Given the description of an element on the screen output the (x, y) to click on. 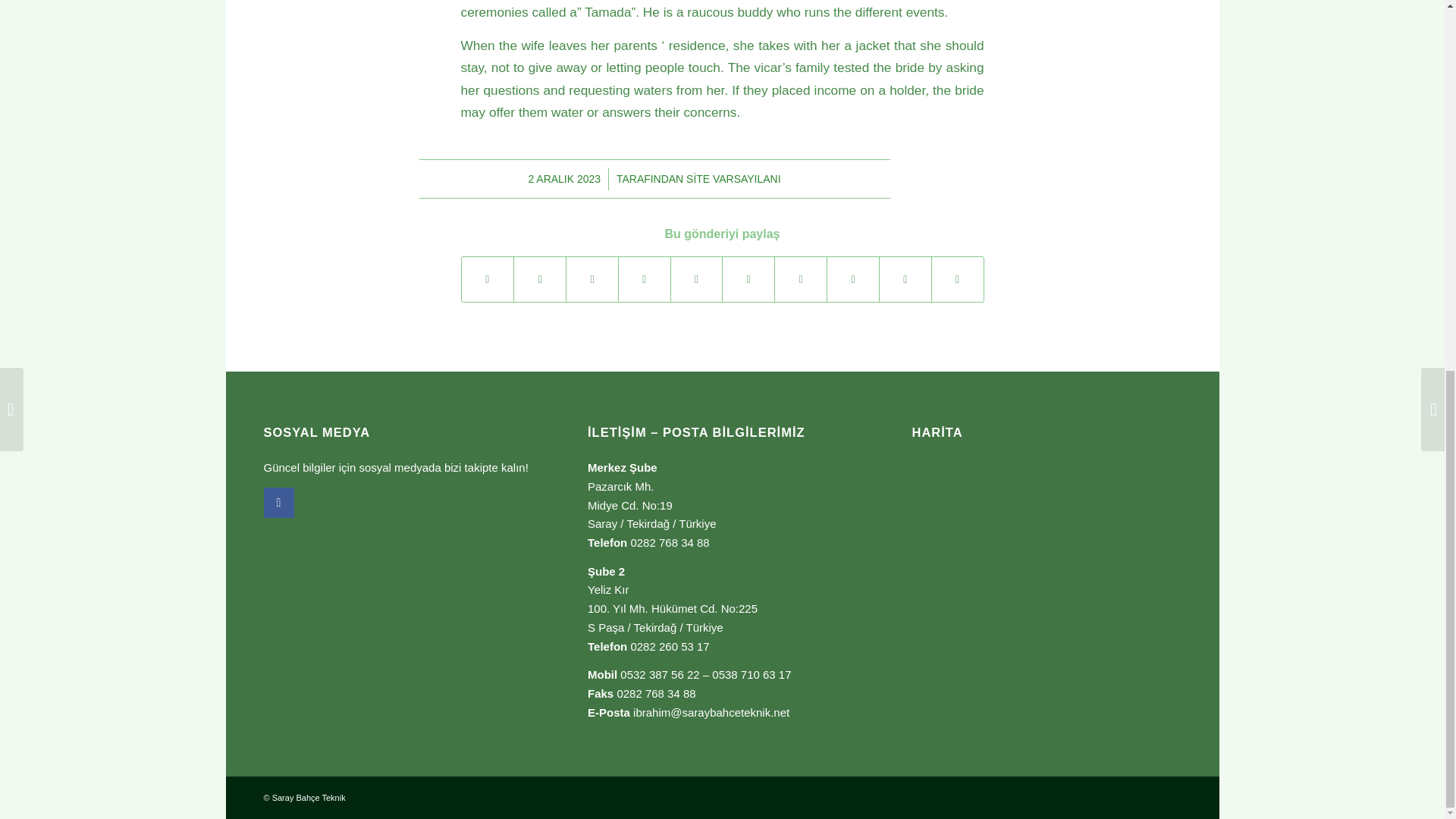
Facebook (278, 502)
SITE VARSAYILANI (732, 178)
facebook (278, 502)
